Given the description of an element on the screen output the (x, y) to click on. 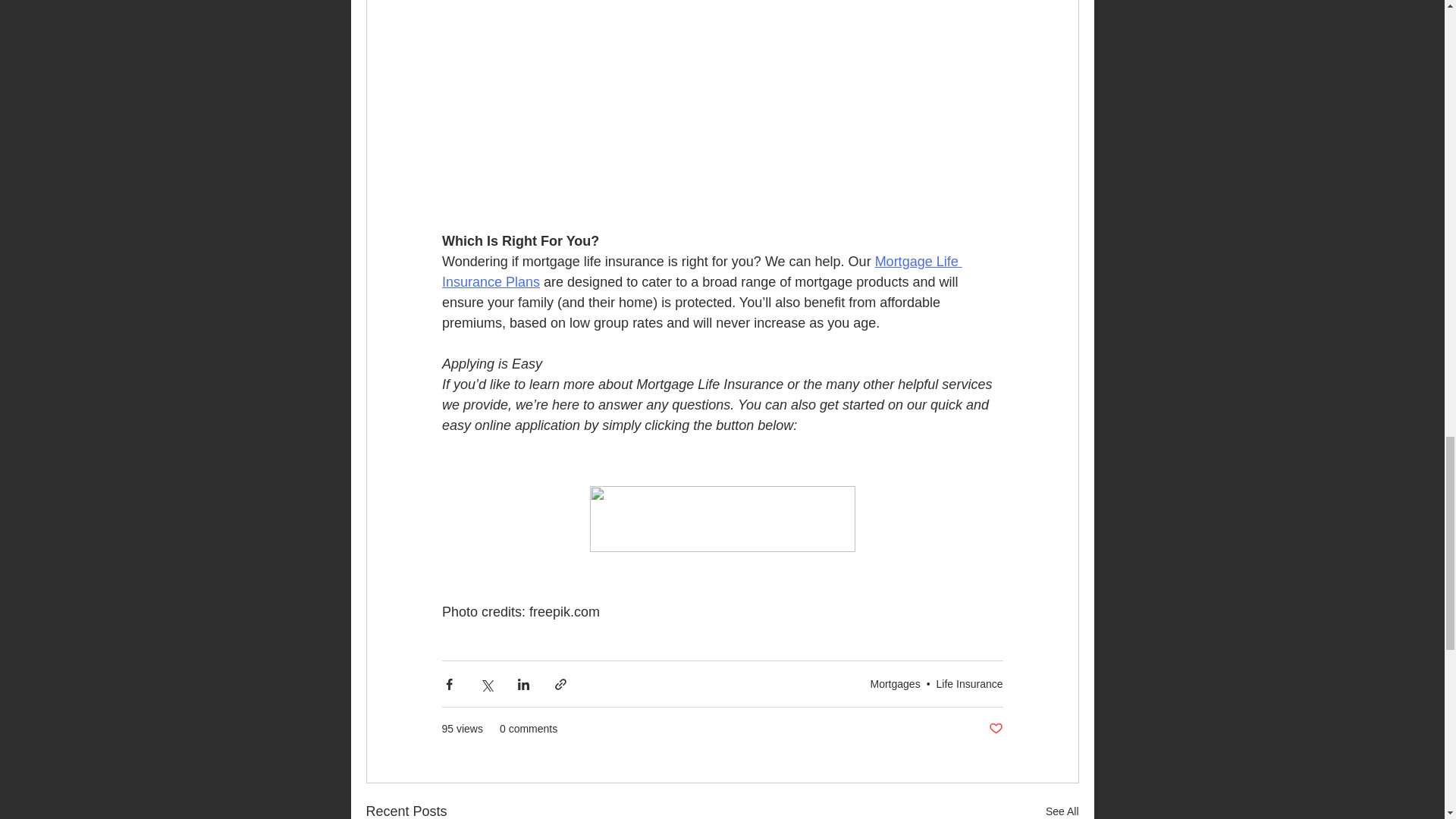
Mortgages (894, 684)
See All (1061, 809)
Mortgage Life Insurance Plans (700, 271)
Life Insurance (969, 684)
Post not marked as liked (995, 729)
